Given the description of an element on the screen output the (x, y) to click on. 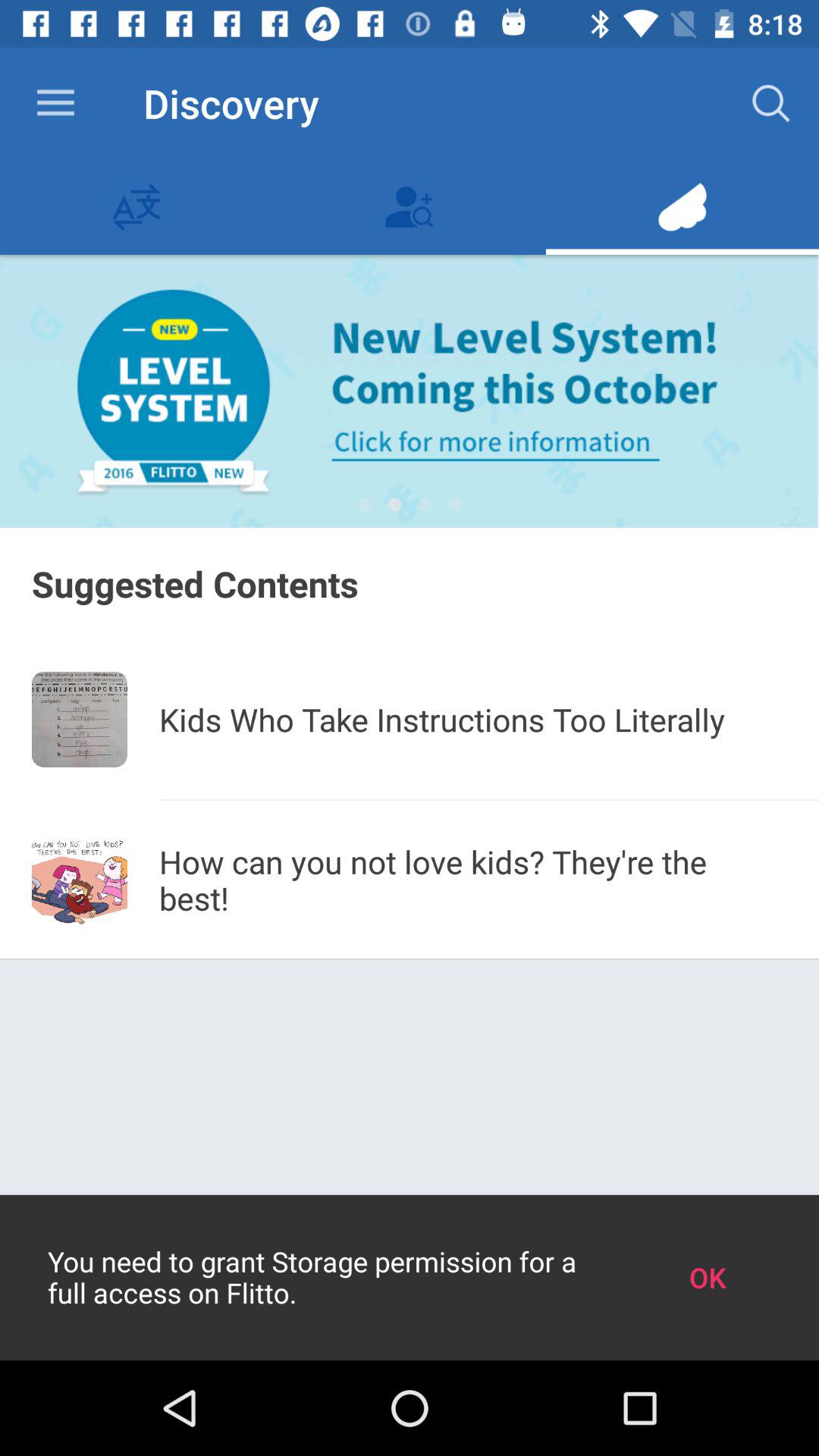
launch icon above the suggested contents item (424, 504)
